Given the description of an element on the screen output the (x, y) to click on. 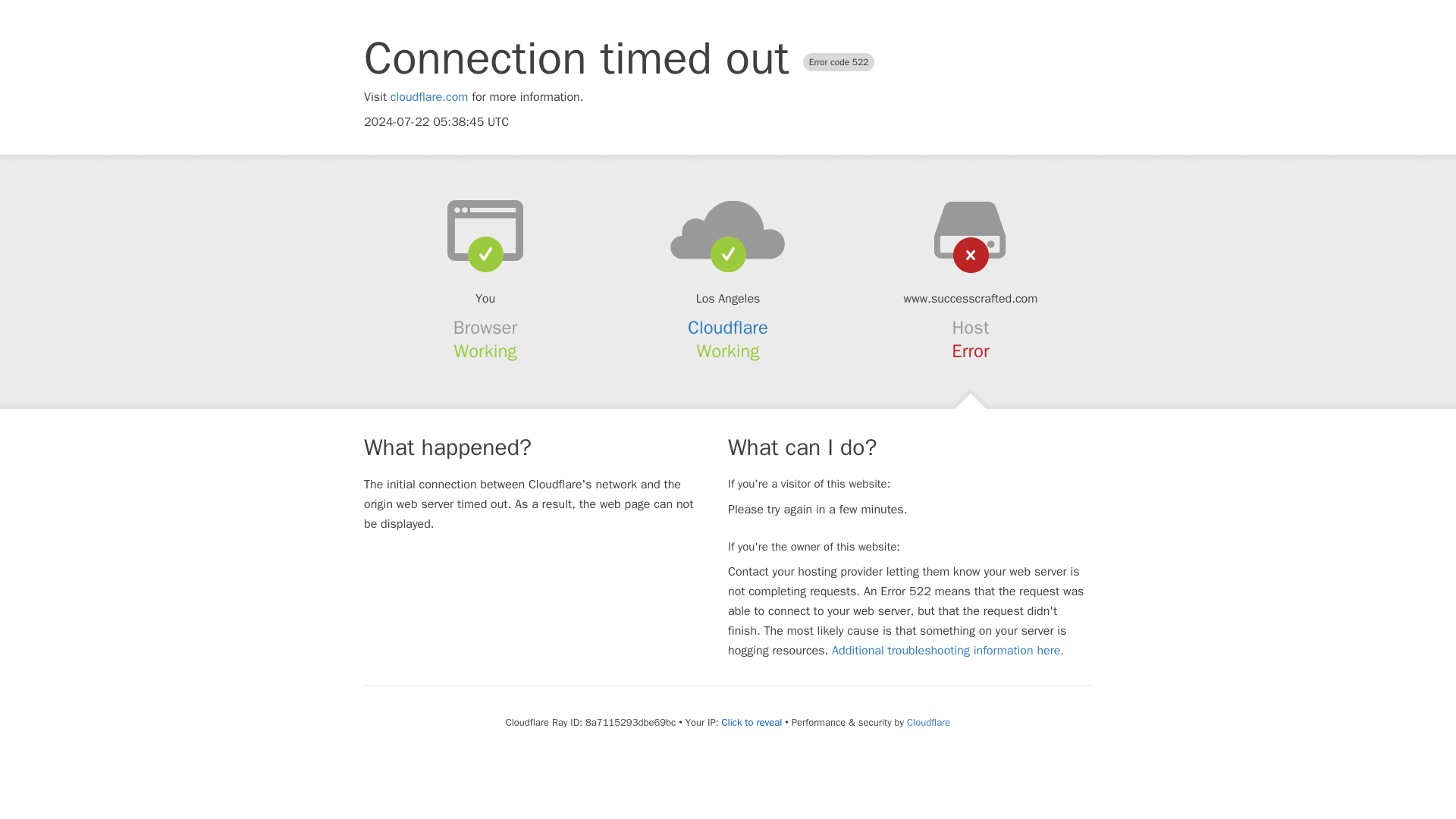
Cloudflare (727, 327)
Additional troubleshooting information here. (947, 650)
Cloudflare (928, 721)
Click to reveal (750, 722)
cloudflare.com (429, 96)
